Given the description of an element on the screen output the (x, y) to click on. 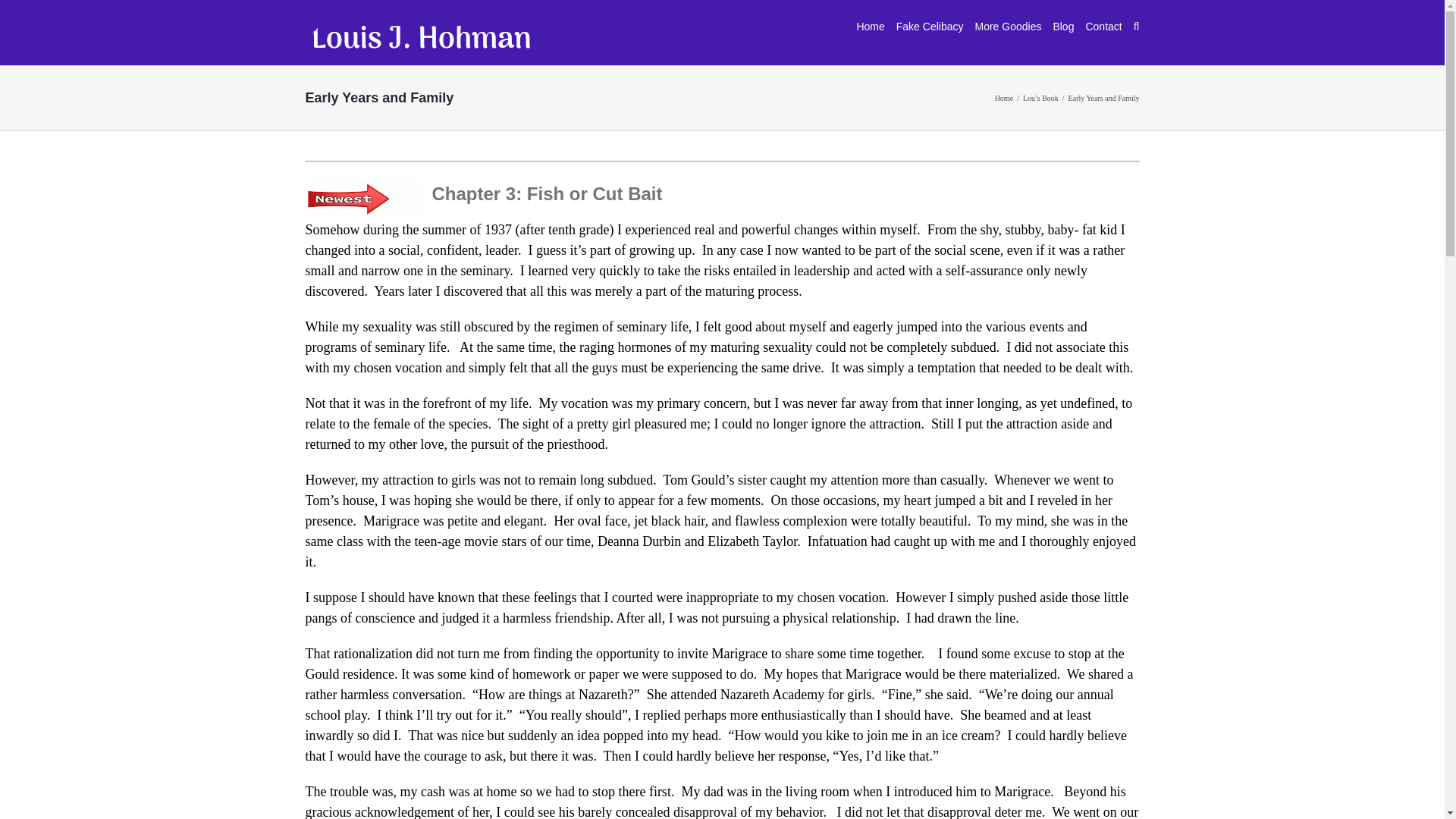
More Goodies (1007, 26)
Fake Celibacy (929, 26)
Home (1003, 98)
